Given the description of an element on the screen output the (x, y) to click on. 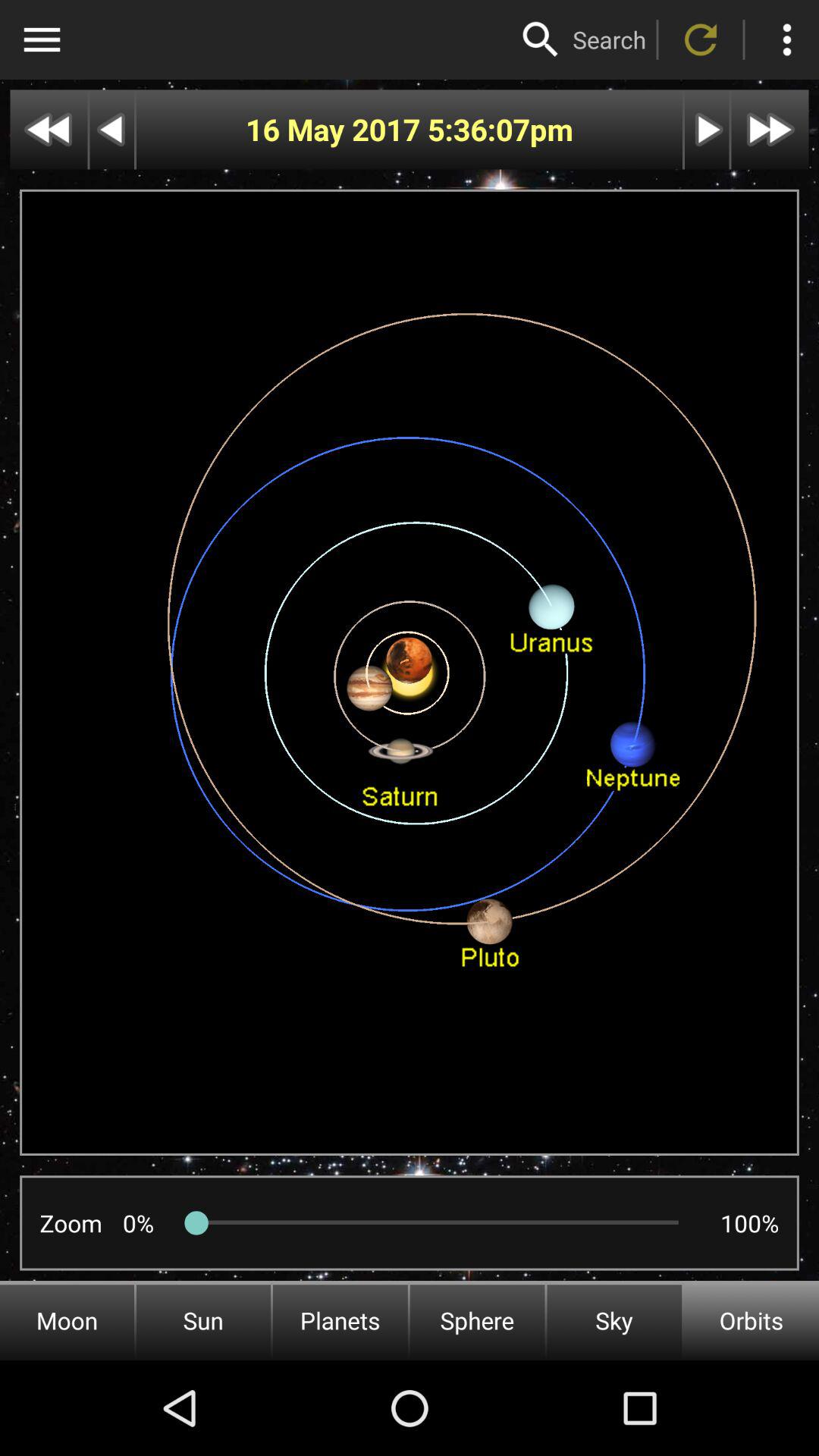
launch icon to the right of the 16 may 2017 (478, 129)
